Given the description of an element on the screen output the (x, y) to click on. 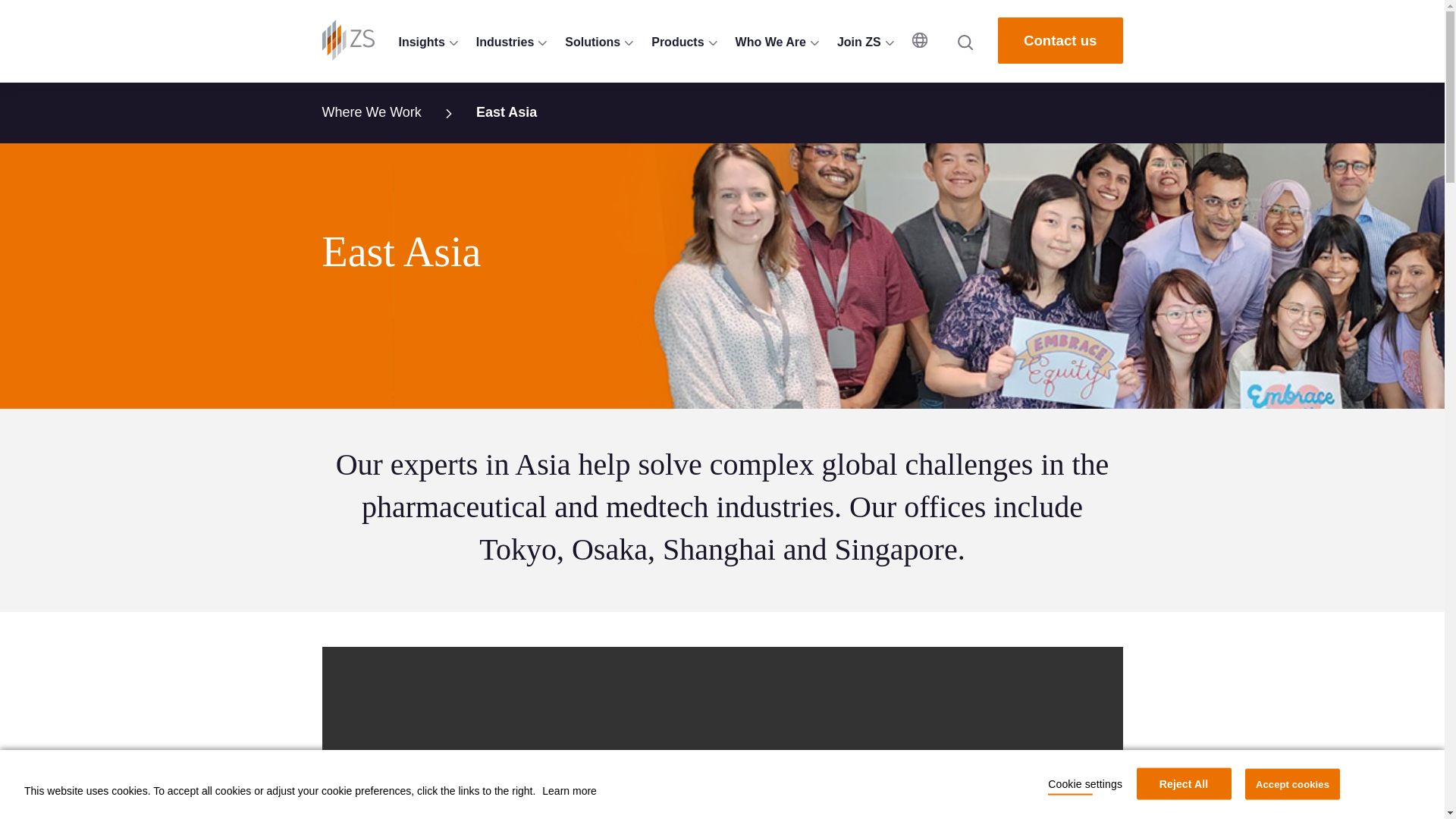
Industries (511, 42)
Insights (428, 42)
Solutions (599, 42)
